Given the description of an element on the screen output the (x, y) to click on. 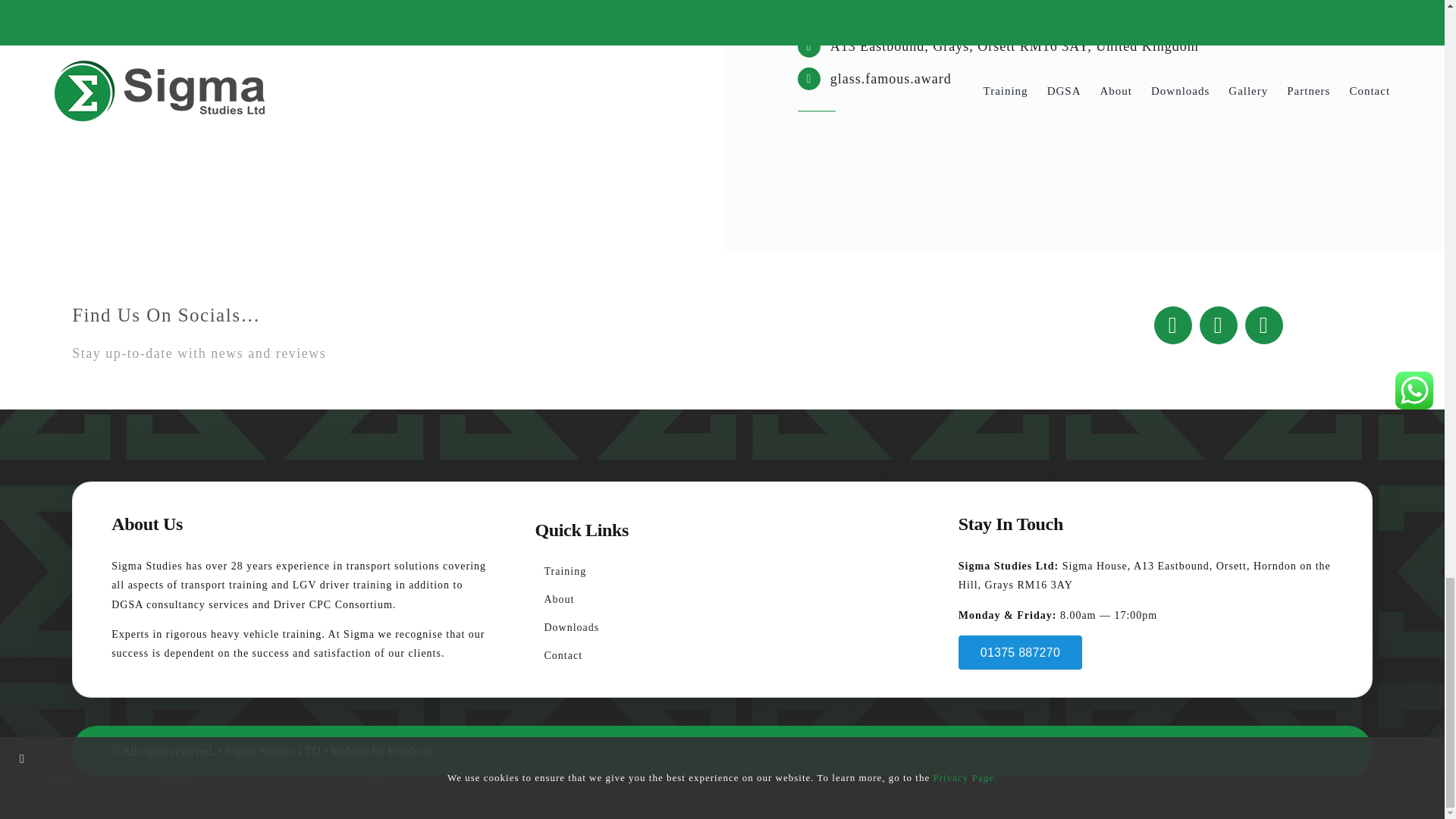
Contact (721, 656)
rigorous heavy vehicle training (243, 633)
Training (721, 571)
Downloads (721, 628)
About (721, 599)
01375 887270 (1019, 652)
